Given the description of an element on the screen output the (x, y) to click on. 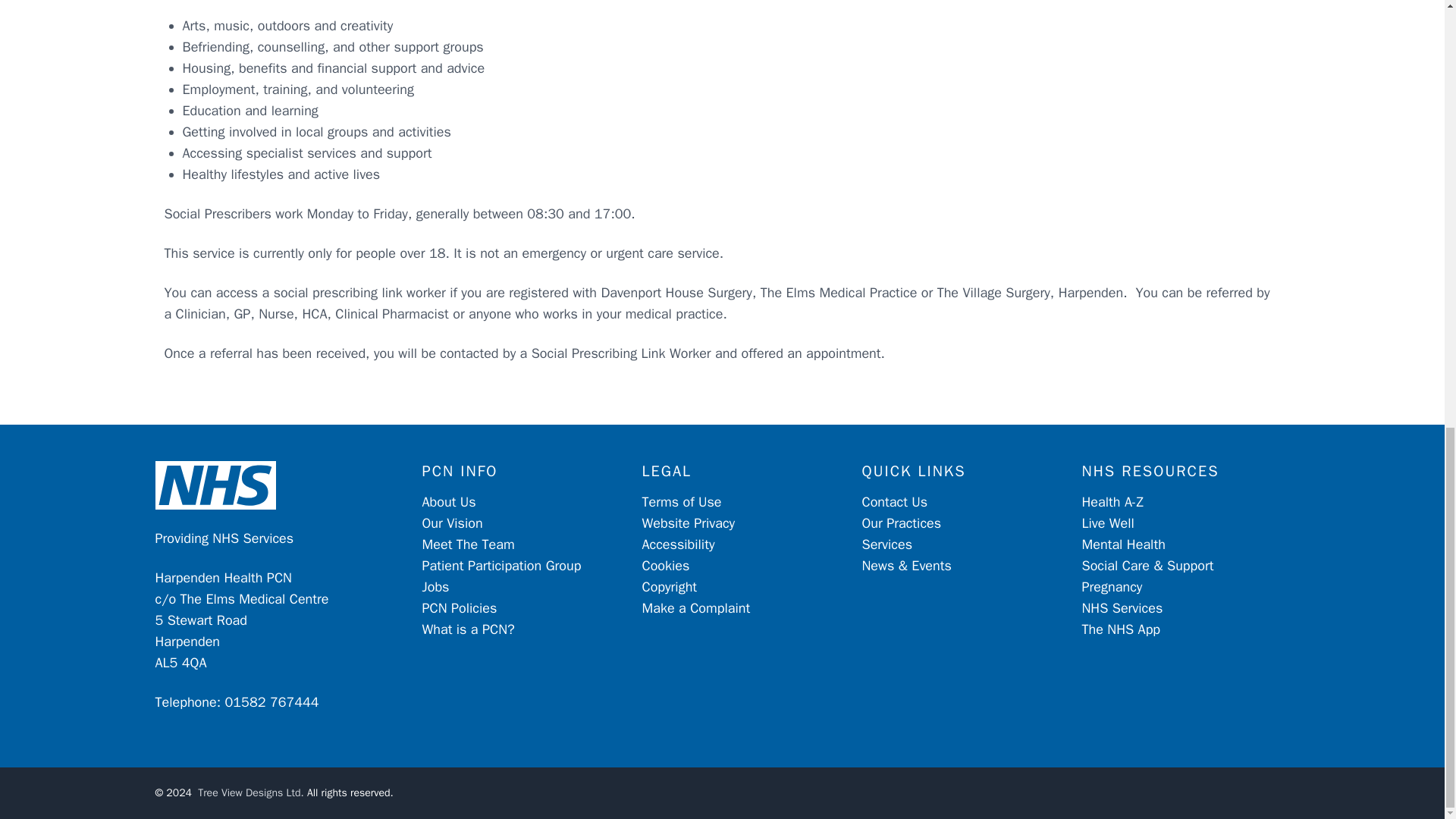
About Us (449, 501)
Website Privacy (688, 523)
Meet The Team (467, 544)
Contact Us (894, 501)
Terms of Use (681, 501)
Jobs (435, 586)
Live Well (1107, 523)
Our Practices (900, 523)
Pregnancy (1111, 586)
Copyright (669, 586)
